Given the description of an element on the screen output the (x, y) to click on. 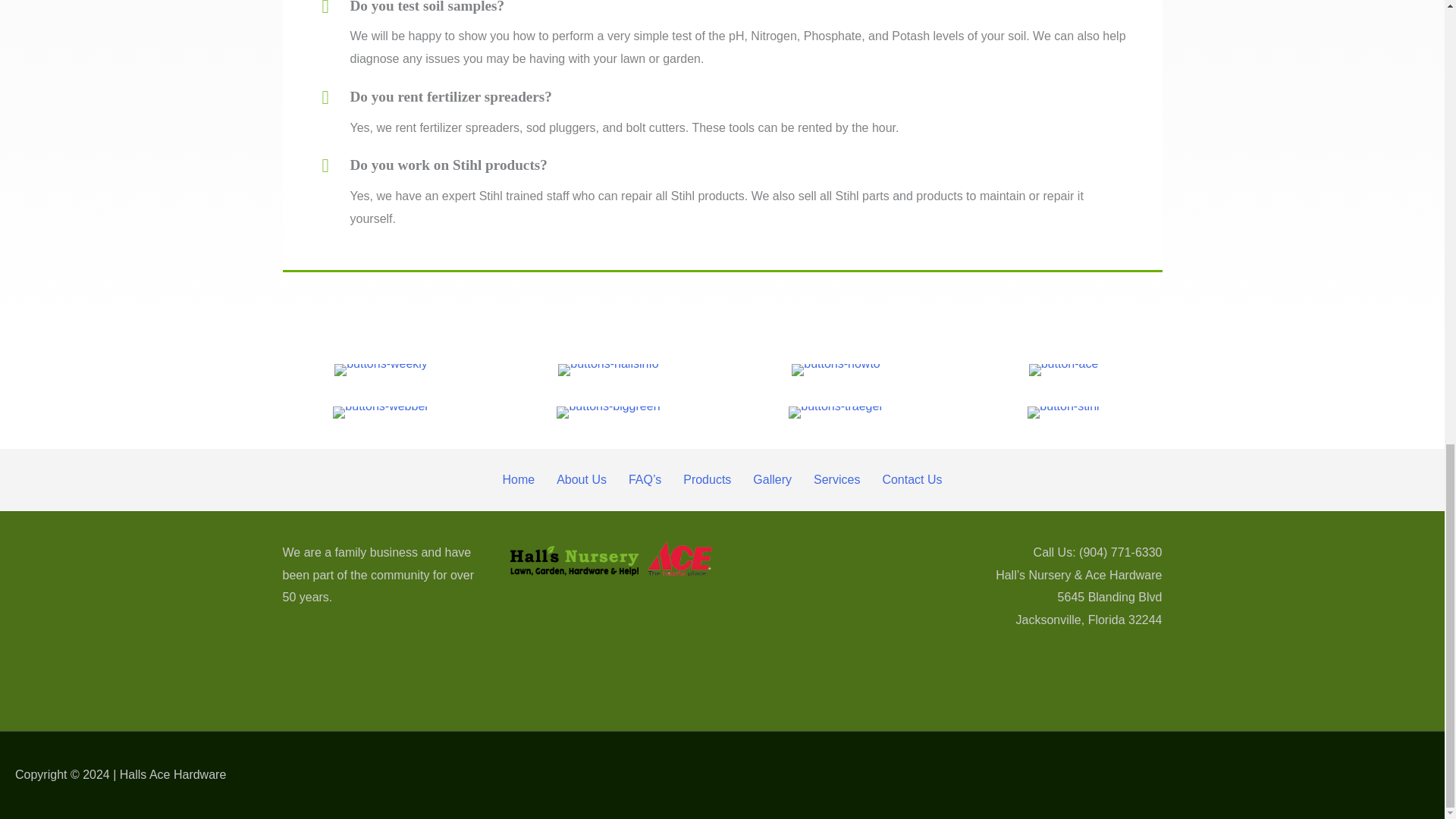
Products (706, 479)
buttons-traeger (836, 412)
button-ace (1064, 369)
buttons-weekly (381, 369)
buttons-hallsinfo (608, 369)
halslogo (610, 558)
Gallery (772, 479)
About Us (581, 479)
Home (518, 479)
buttons-webber (380, 412)
button-stihl (1063, 412)
buttons-biggreen (607, 412)
buttons-howto (836, 369)
